Given the description of an element on the screen output the (x, y) to click on. 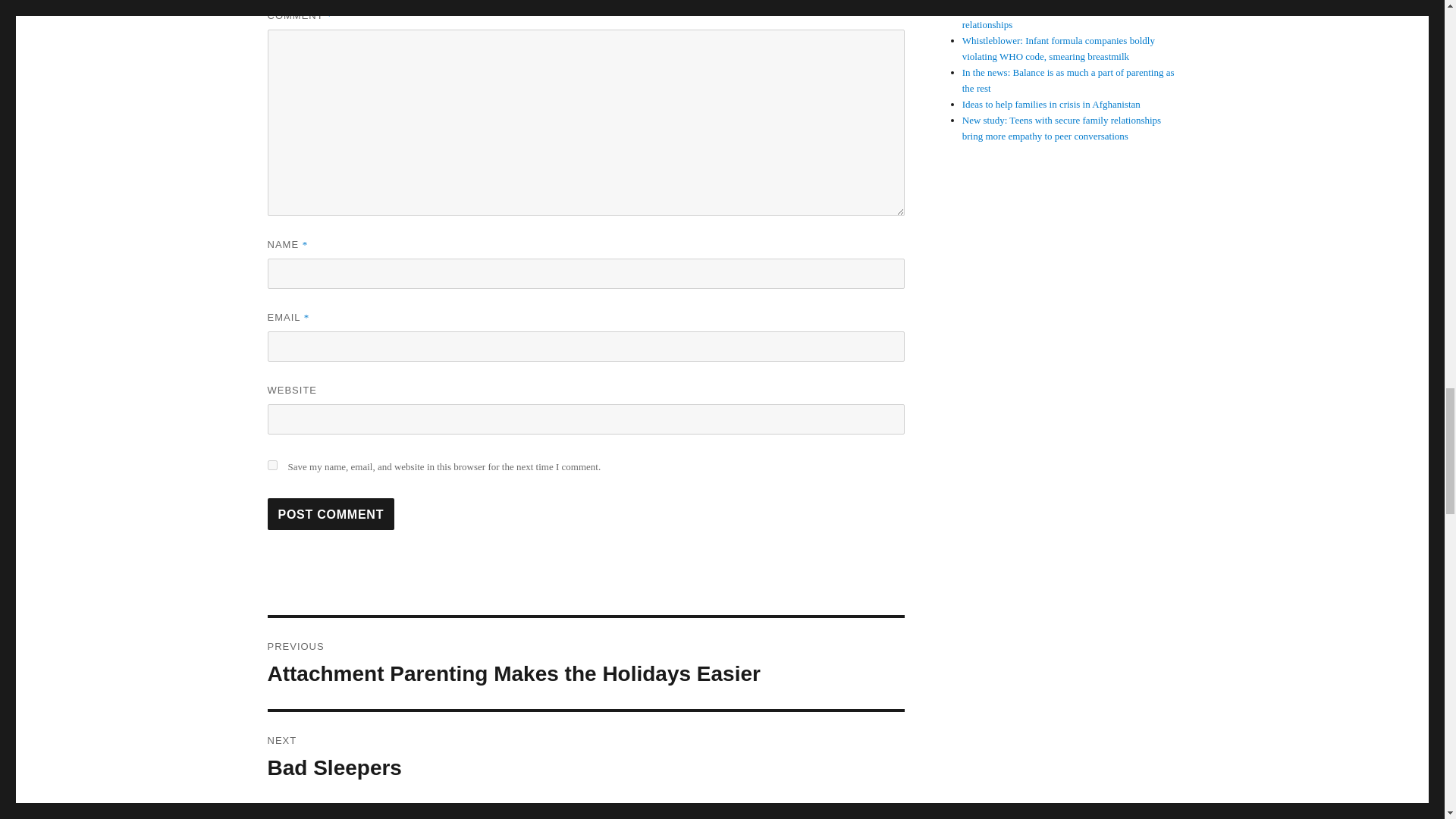
Post Comment (330, 513)
yes (271, 465)
Post Comment (330, 513)
